Given the description of an element on the screen output the (x, y) to click on. 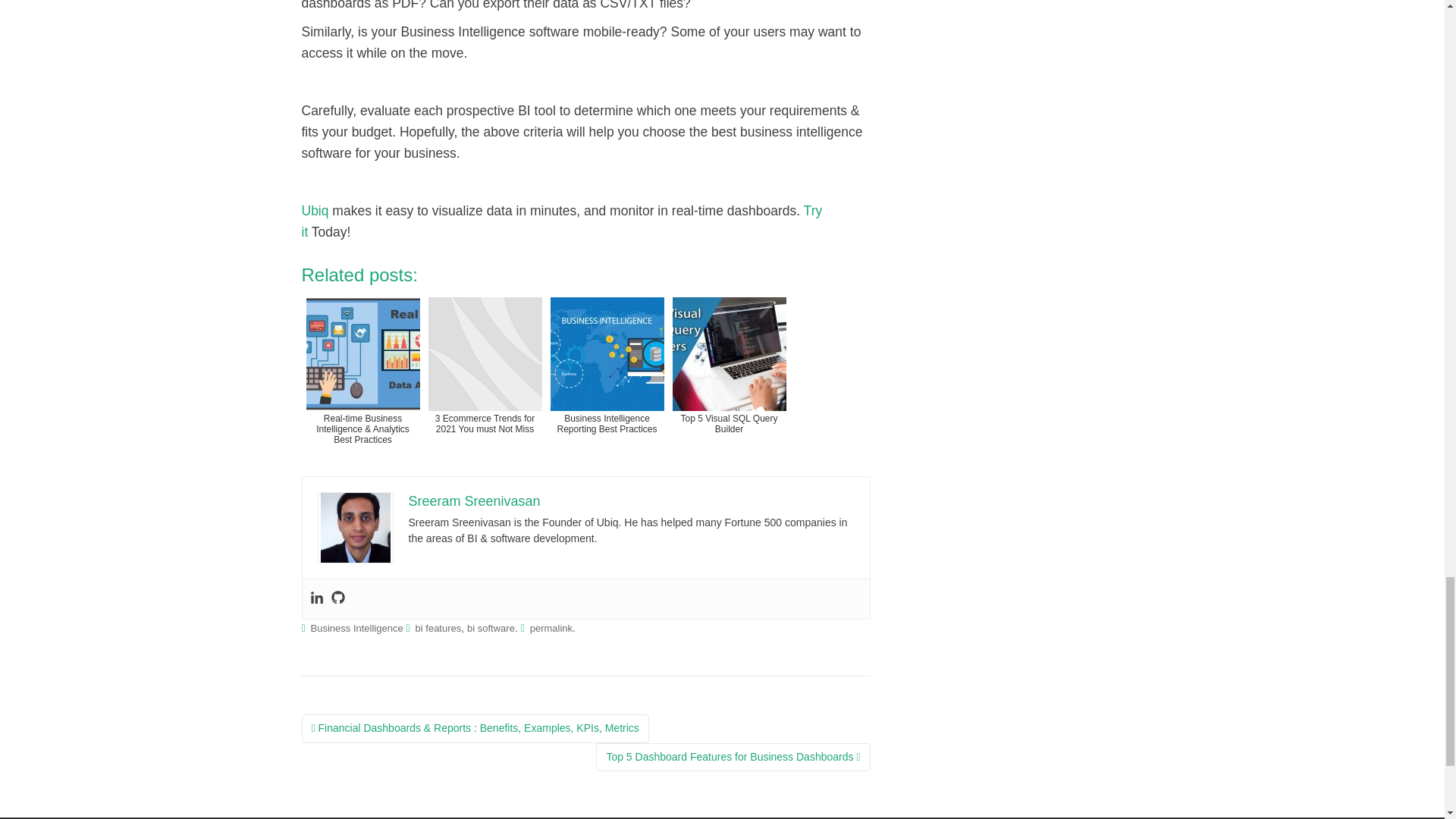
Try it (561, 221)
Top 5 Dashboard Features for Business Dashboards (732, 757)
Business Intelligence (357, 627)
bi software (491, 627)
Ubiq (315, 210)
Sreeram Sreenivasan (473, 500)
permalink (550, 627)
bi features (437, 627)
